Given the description of an element on the screen output the (x, y) to click on. 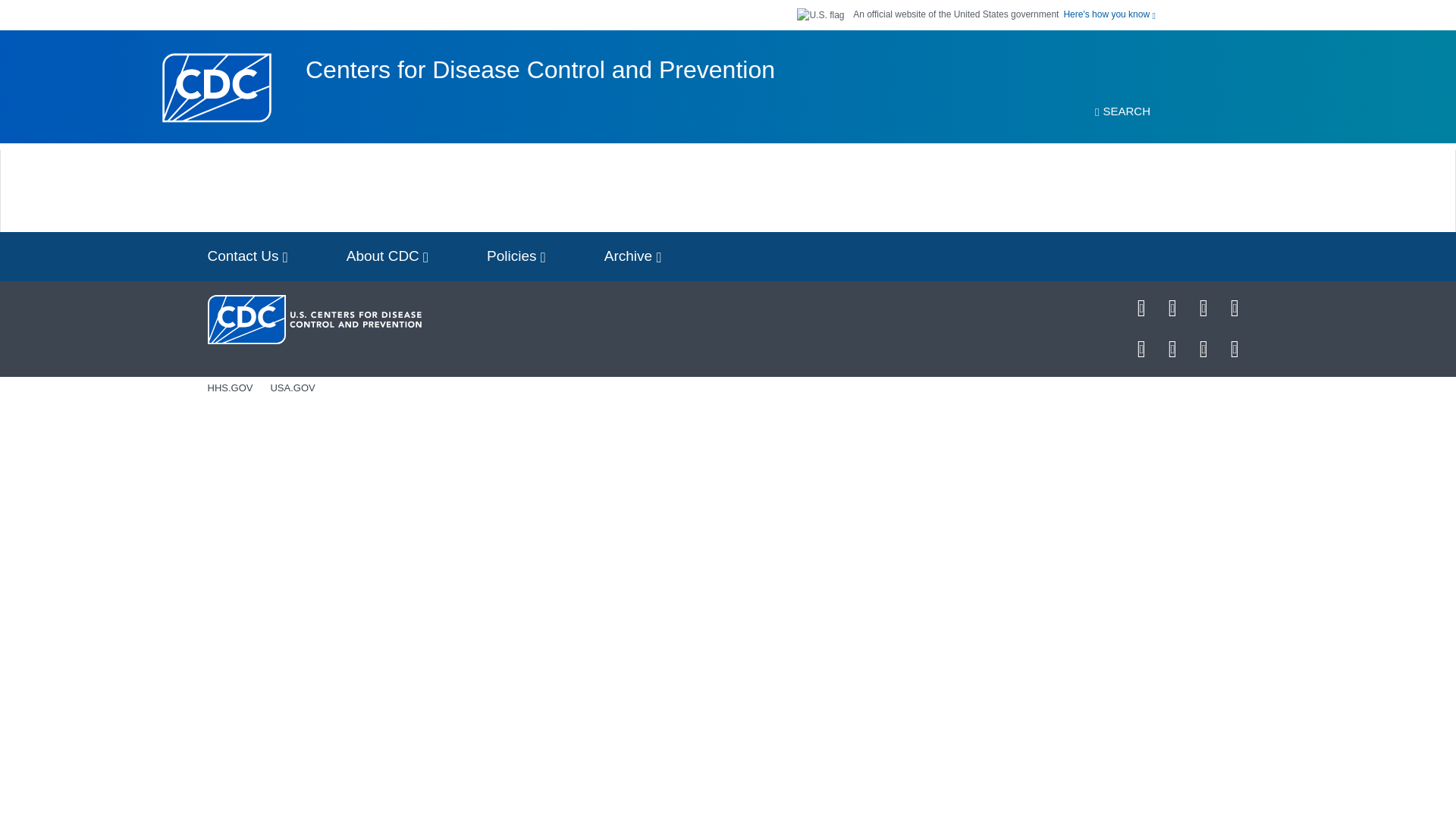
SEARCH (1122, 111)
Policies (516, 256)
About CDC (387, 256)
Here's how you know (1108, 14)
Contact Us (247, 256)
Archive (633, 256)
Centers for Disease Control and Prevention (539, 69)
